Given the description of an element on the screen output the (x, y) to click on. 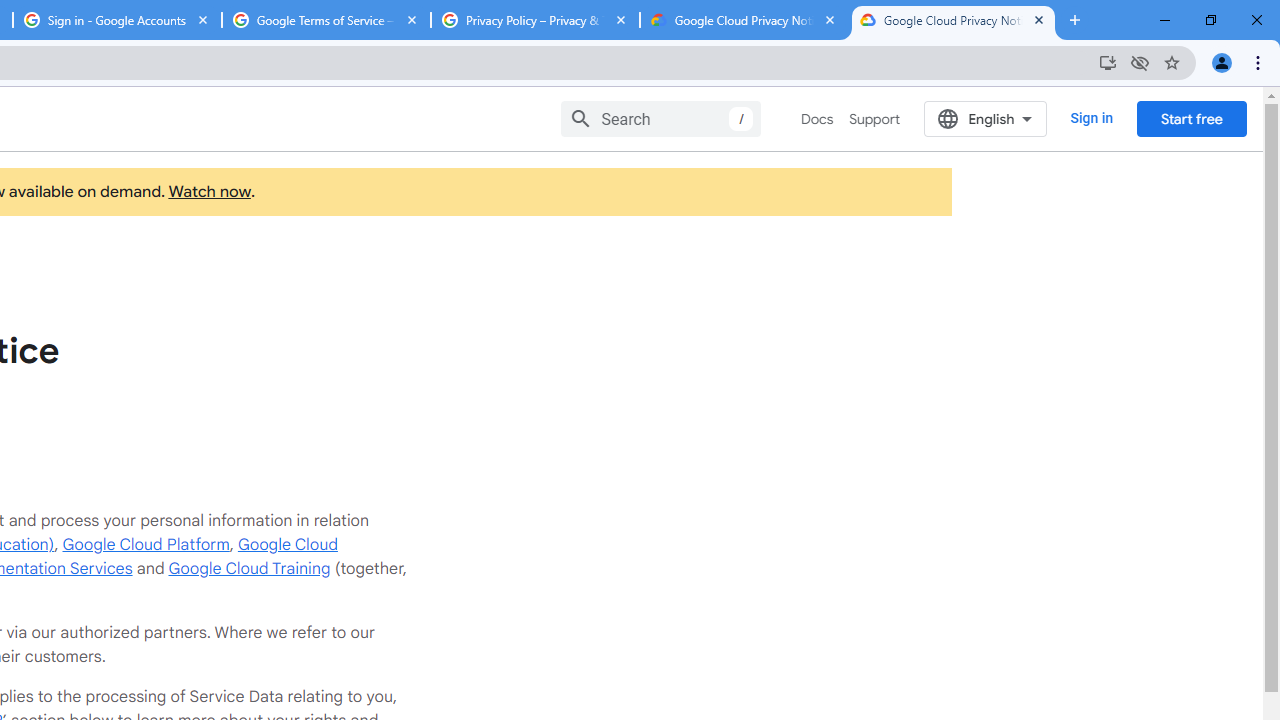
Google Cloud Training (249, 568)
Watch now (208, 192)
Start free (1191, 118)
English (985, 118)
Google Cloud Privacy Notice (953, 20)
Google Cloud Privacy Notice (744, 20)
Docs (817, 119)
